Given the description of an element on the screen output the (x, y) to click on. 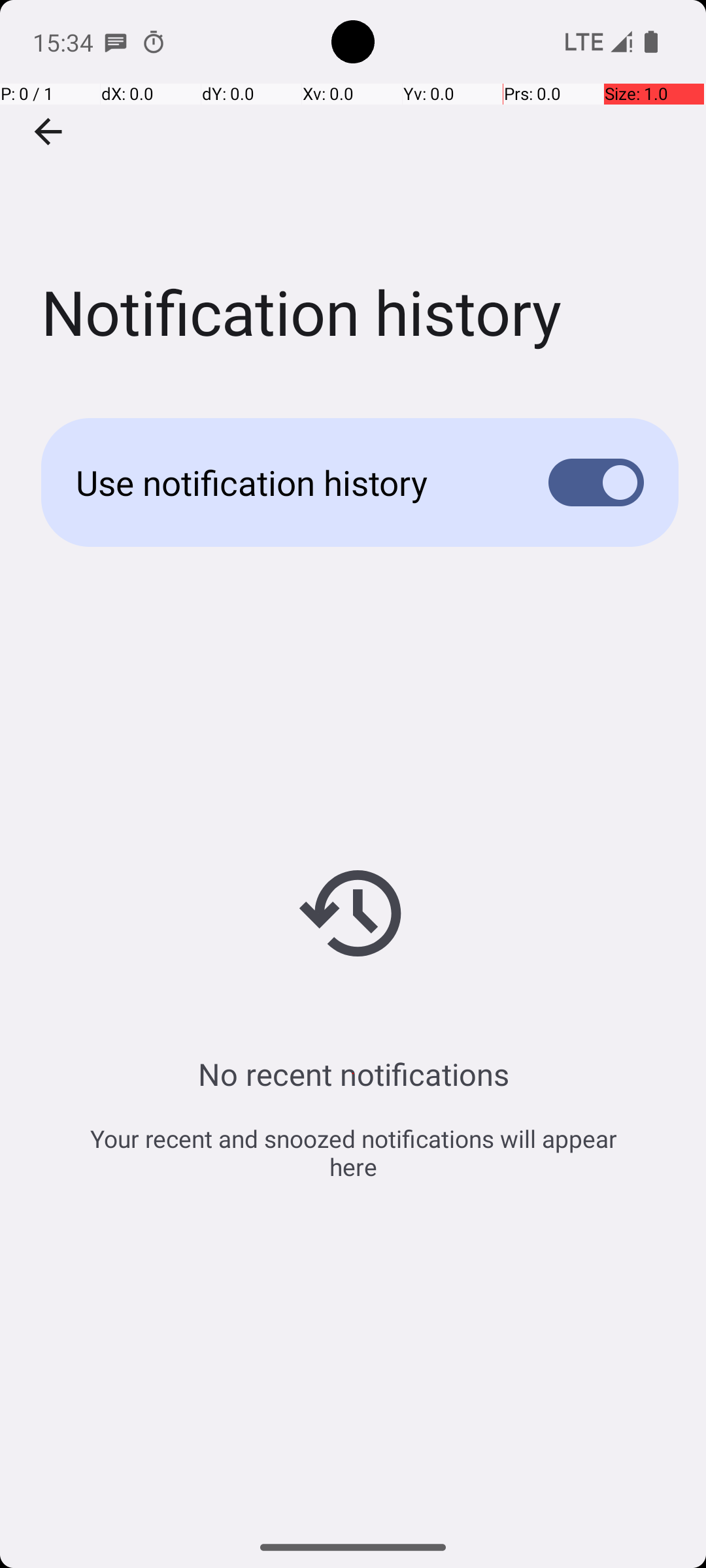
No recent notifications Element type: android.widget.TextView (352, 1073)
Your recent and snoozed notifications will appear here Element type: android.widget.TextView (352, 1152)
Use notification history Element type: android.widget.TextView (291, 482)
